Given the description of an element on the screen output the (x, y) to click on. 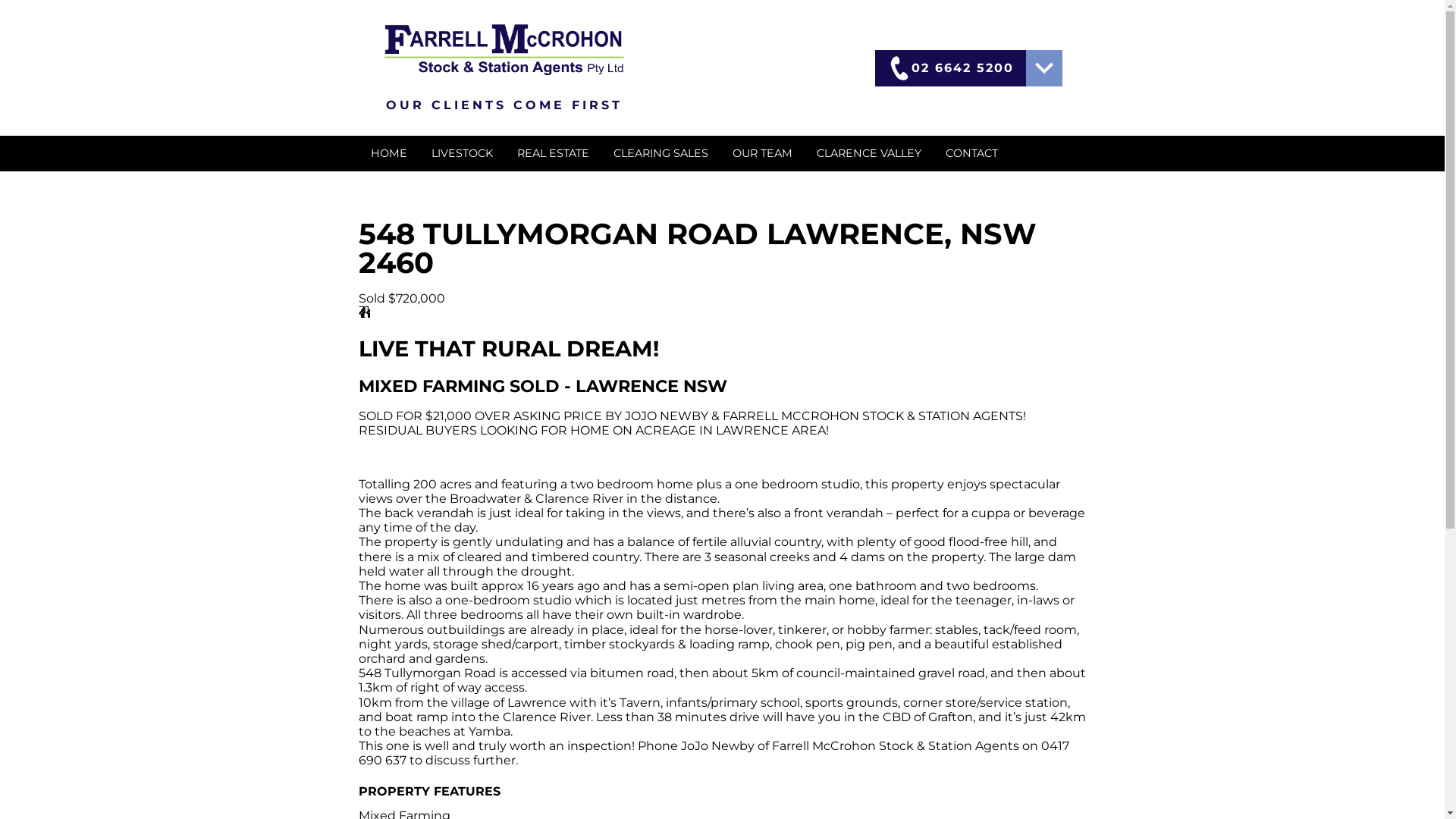
HOME Element type: text (387, 152)
CLEARING SALES Element type: text (659, 152)
REAL ESTATE Element type: text (553, 152)
OUR TEAM Element type: text (762, 152)
02 6642 5200 Element type: text (950, 68)
LIVESTOCK Element type: text (461, 152)
CLARENCE VALLEY Element type: text (867, 152)
CONTACT Element type: text (970, 152)
FARRELL MCCROHON Element type: text (503, 49)
